Given the description of an element on the screen output the (x, y) to click on. 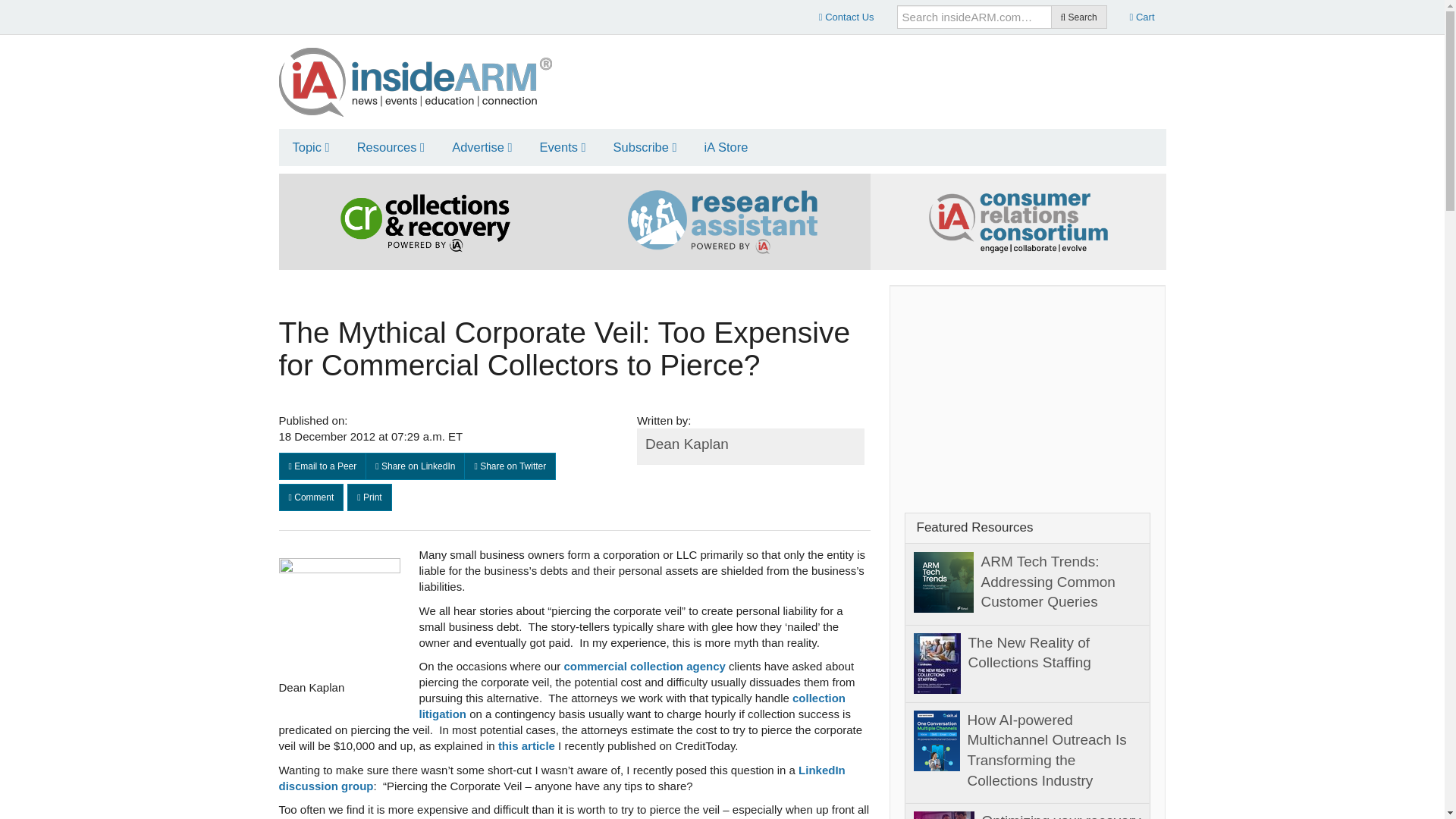
Search (1078, 16)
Advertise (481, 147)
Cart (1142, 17)
Dean Kaplan (339, 618)
Resources (390, 147)
Contact Us (846, 17)
